Given the description of an element on the screen output the (x, y) to click on. 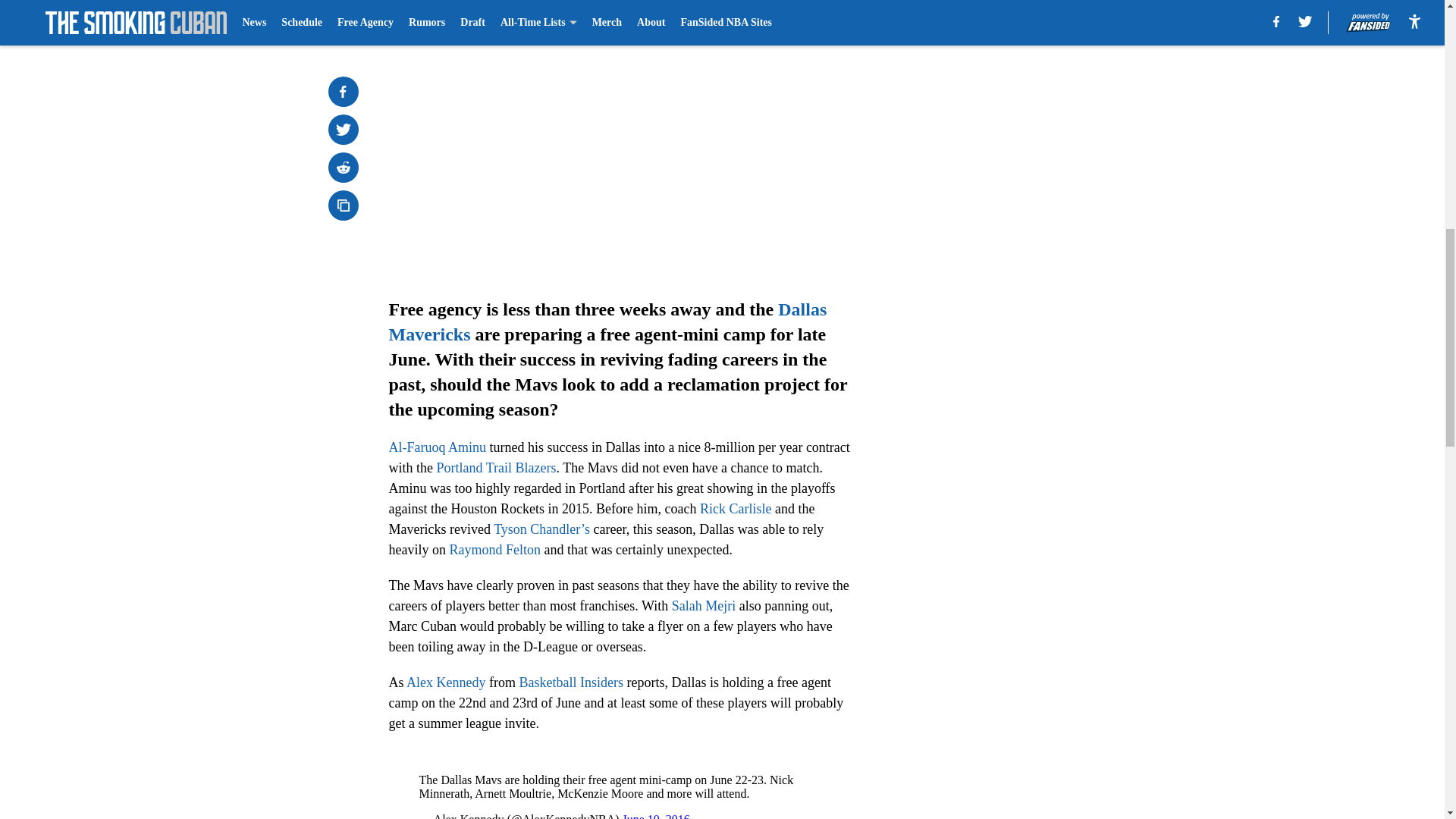
Salah Mejri (703, 605)
June 10, 2016 (656, 816)
Basketball Insiders (570, 682)
Al-Faruoq Aminu (437, 447)
Rick Carlisle (735, 508)
Alex Kennedy (445, 682)
Raymond Felton (494, 549)
Portland Trail Blazers (496, 467)
Dallas Mavericks (607, 321)
